Given the description of an element on the screen output the (x, y) to click on. 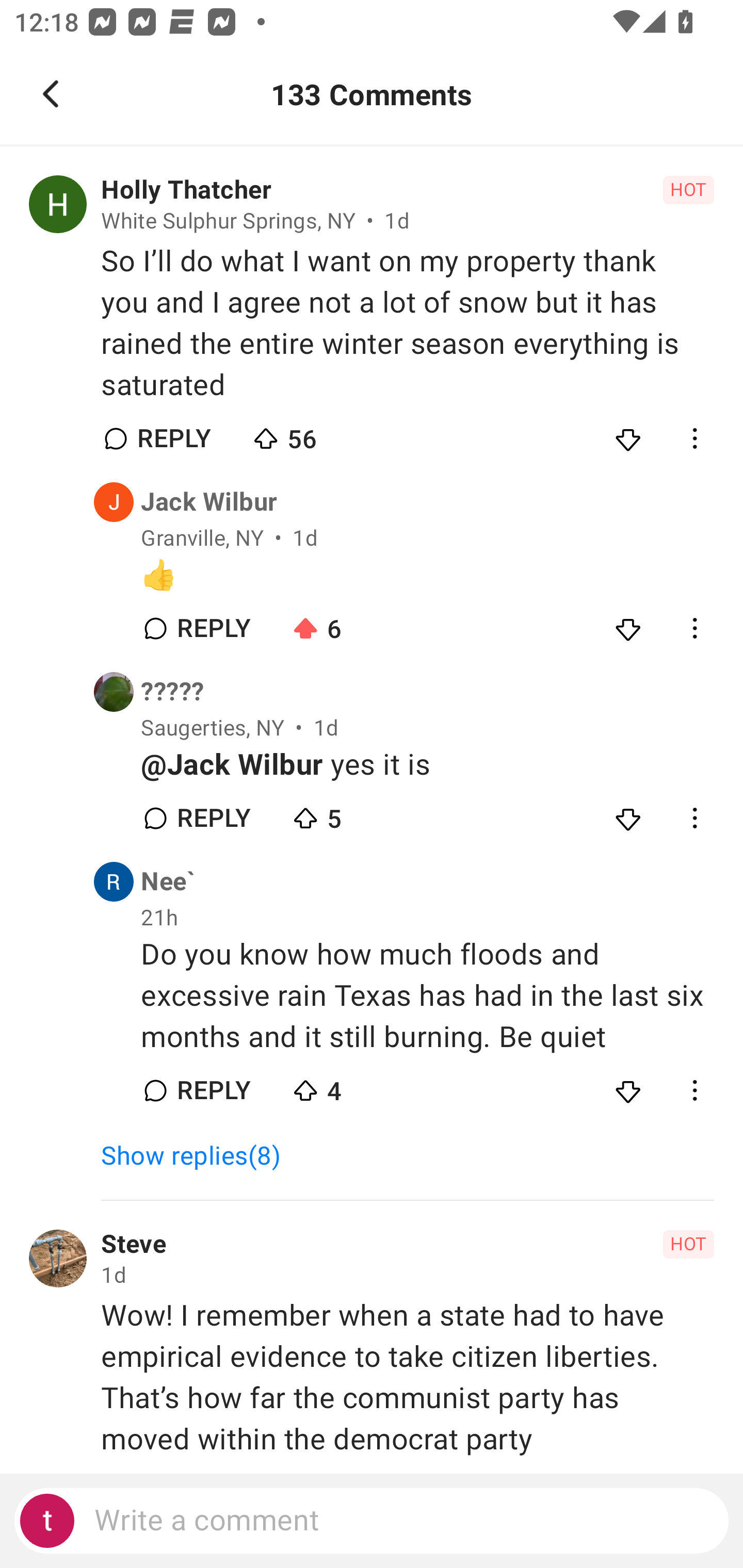
Navigate up (50, 93)
Holly Thatcher (186, 190)
56 (320, 433)
REPLY (173, 438)
Jack Wilbur (209, 502)
👍 (427, 575)
6 (360, 623)
REPLY (213, 627)
????? (172, 692)
@Jack Wilbur yes it is   (427, 764)
5 (360, 813)
REPLY (213, 817)
Nee` (167, 881)
4 (360, 1085)
REPLY (213, 1090)
Show replies(8) (199, 1156)
Steve (133, 1244)
Write a comment (371, 1520)
